Given the description of an element on the screen output the (x, y) to click on. 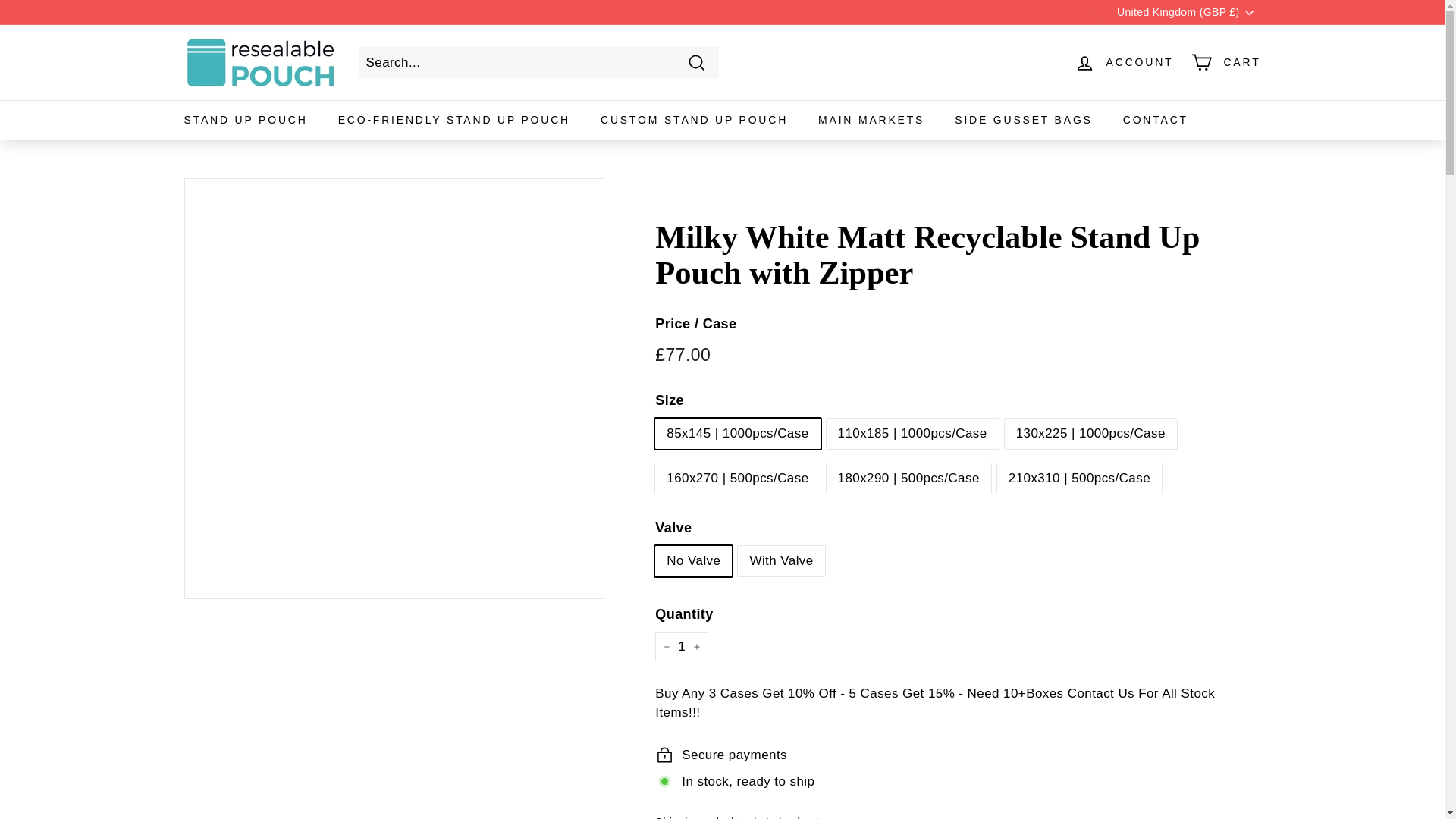
ACCOUNT (1123, 62)
1 (681, 646)
